Given the description of an element on the screen output the (x, y) to click on. 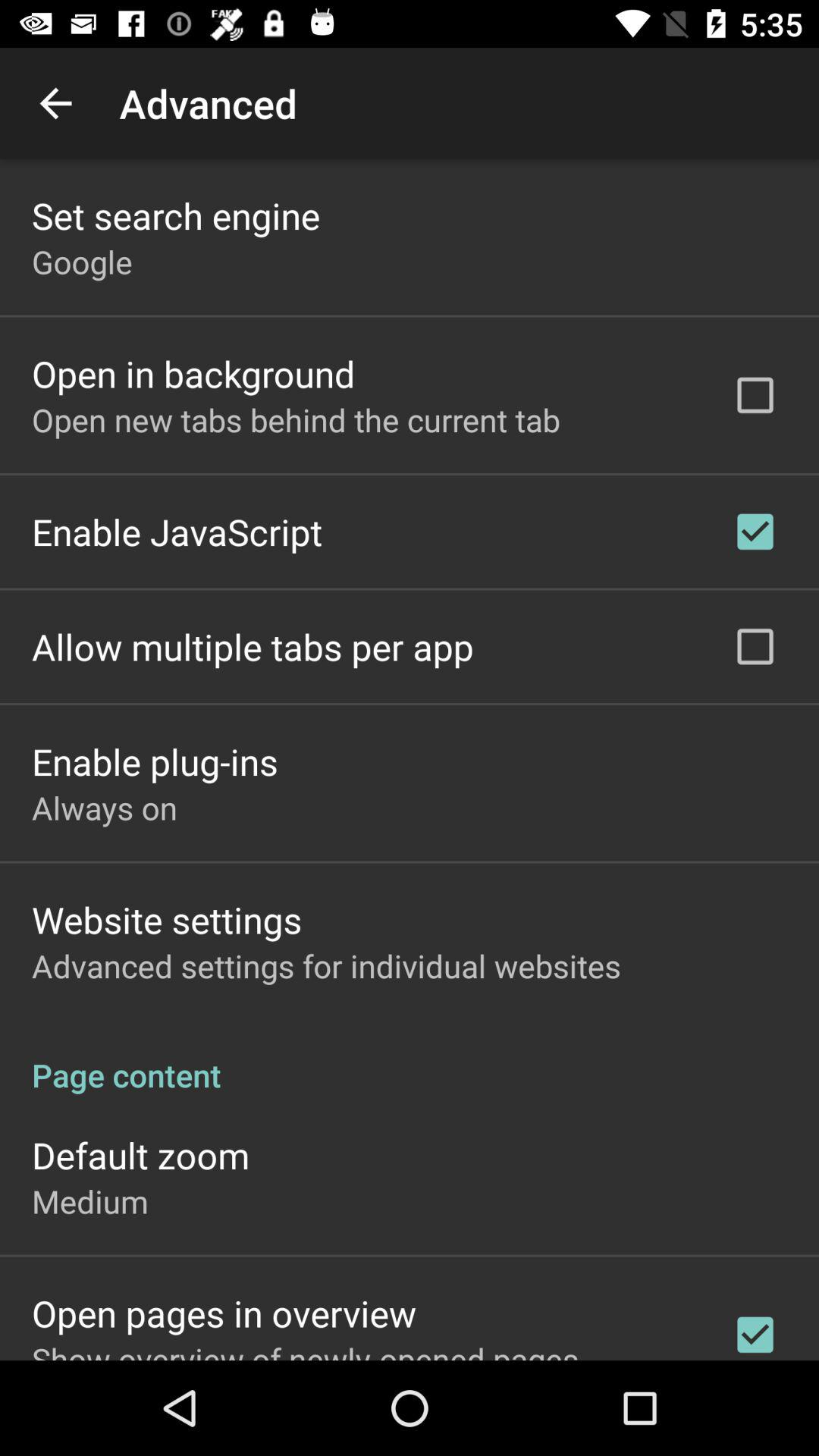
click icon below the advanced settings for app (409, 1058)
